Given the description of an element on the screen output the (x, y) to click on. 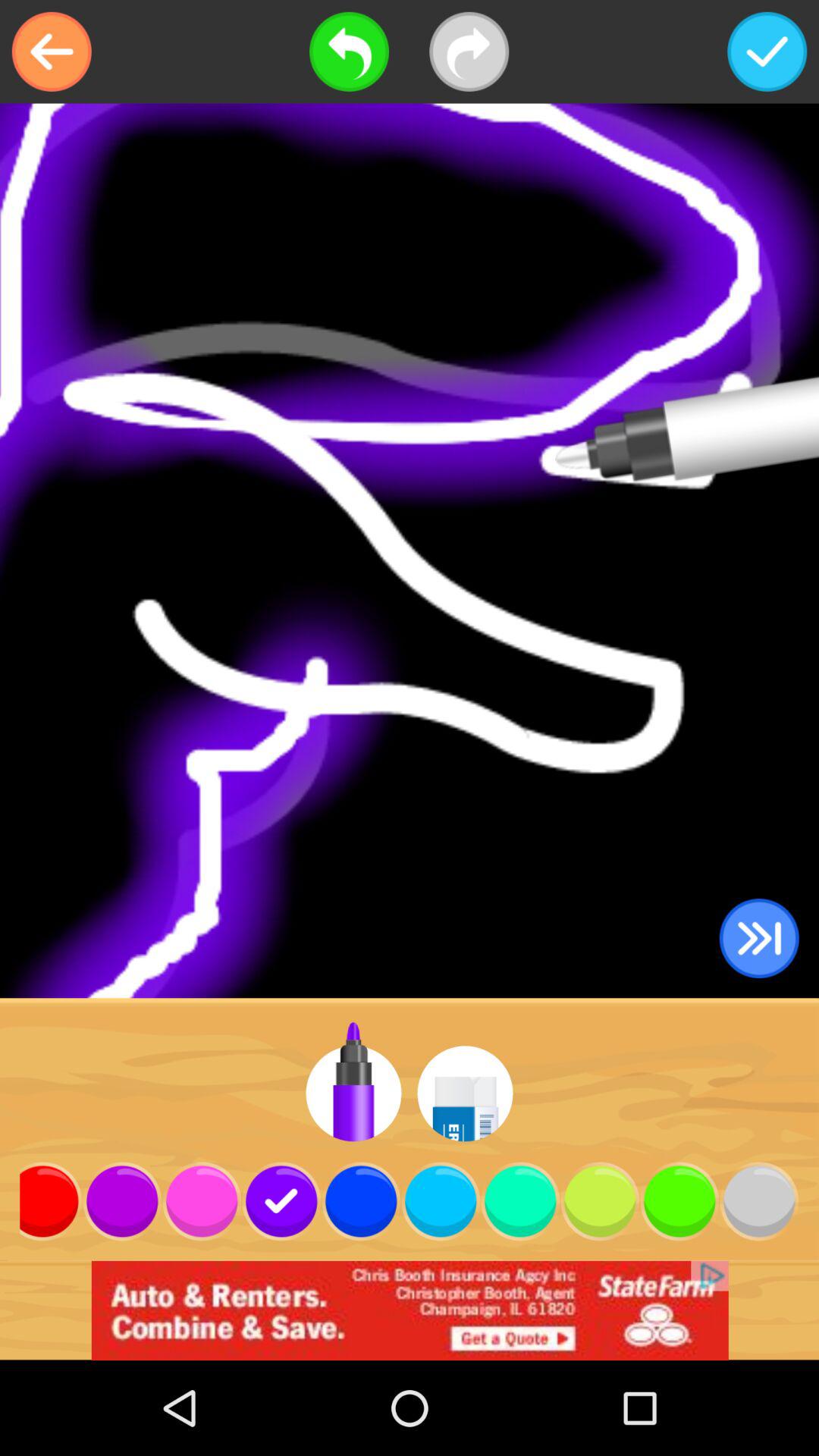
return to previous (51, 51)
